Given the description of an element on the screen output the (x, y) to click on. 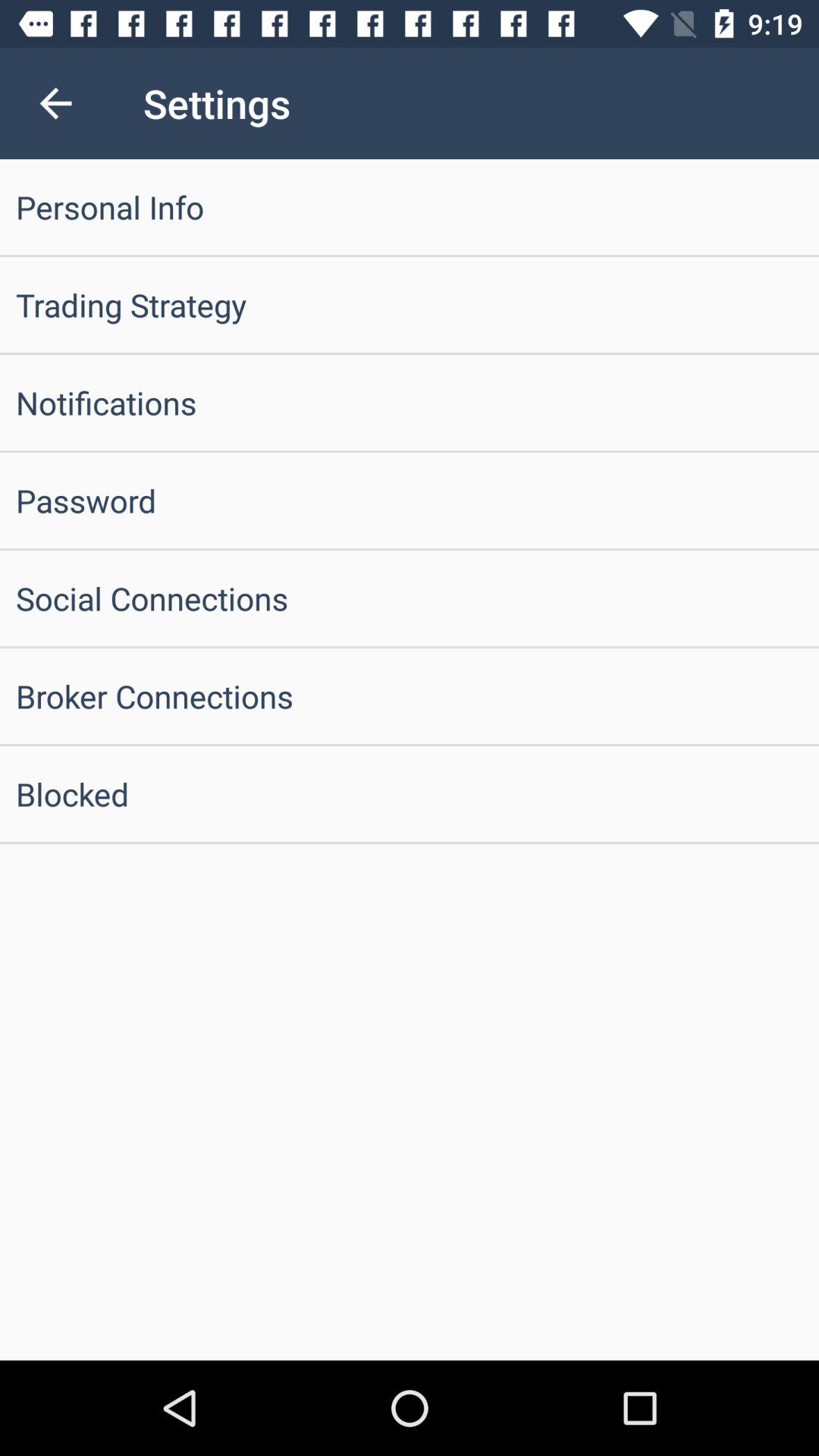
tap personal info item (409, 206)
